Given the description of an element on the screen output the (x, y) to click on. 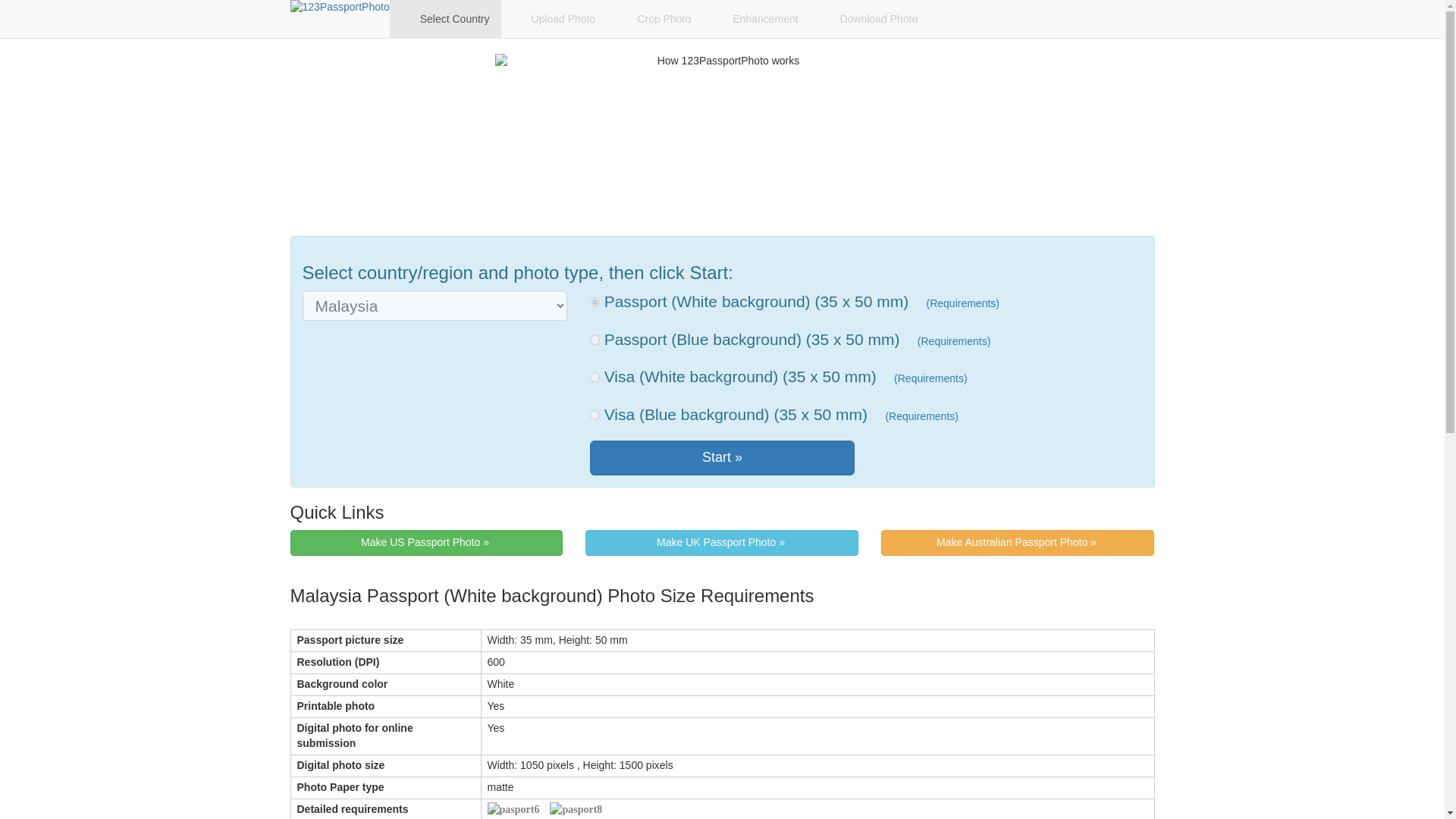
Download Photo (869, 18)
Enhancement (755, 18)
Crop Photo (654, 18)
Upload Photo (553, 18)
Select Country (445, 18)
